Given the description of an element on the screen output the (x, y) to click on. 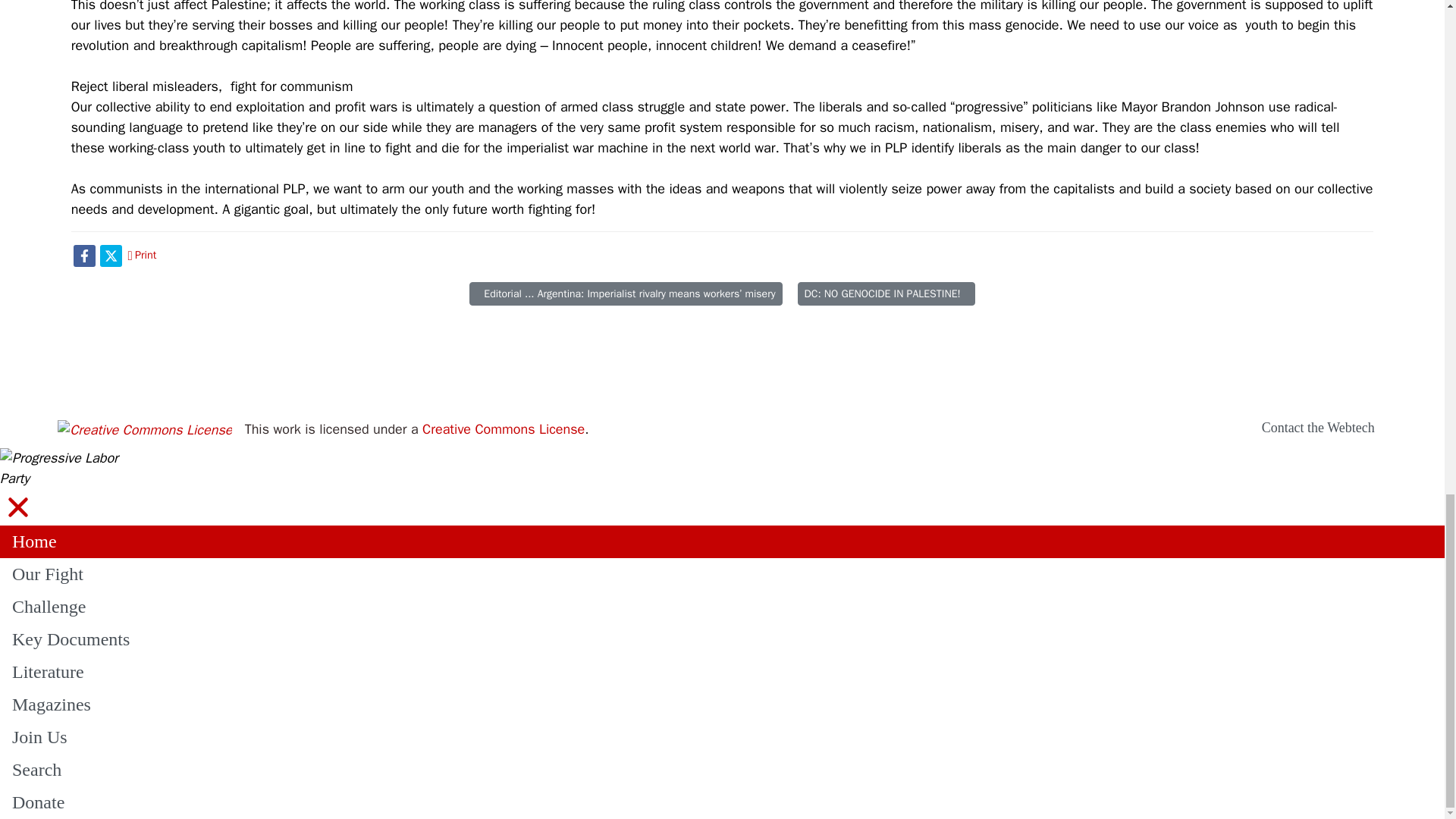
Print (142, 254)
Creative Commons License (503, 428)
Share with Facebook (85, 254)
Close slide pane (18, 506)
Share with X-Twitter (111, 254)
Print (142, 254)
Contact the Webtech (1318, 427)
Close slide pane (18, 506)
